Given the description of an element on the screen output the (x, y) to click on. 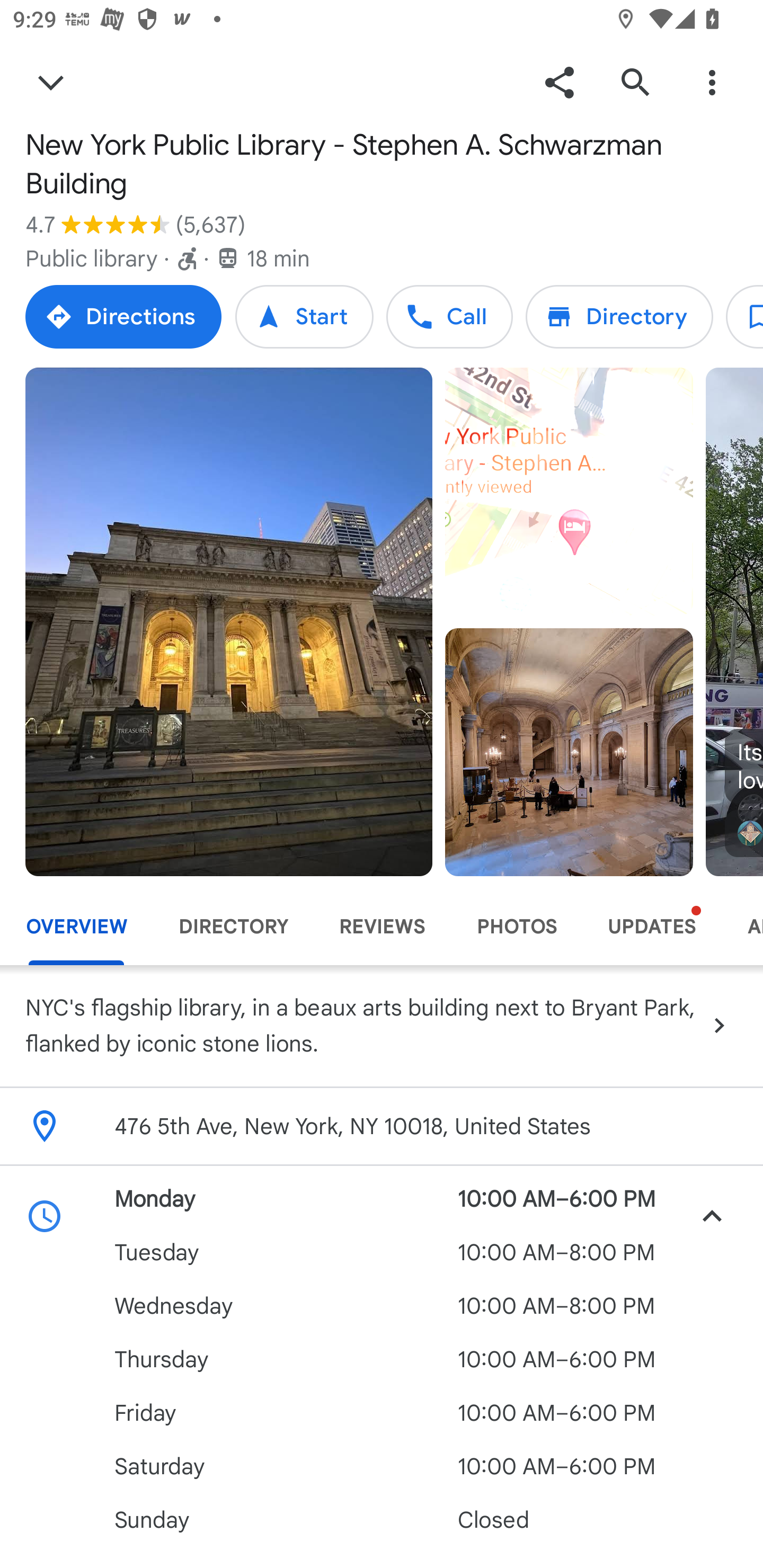
Back to Search (50, 81)
Share (559, 81)
Search (635, 81)
Start Start Start (304, 316)
Directory Directory Directory (619, 316)
Photo (228, 621)
Video (568, 491)
Photo (568, 752)
DIRECTORY Directory (232, 927)
REVIEWS Reviews (381, 927)
PHOTOS Photos (516, 927)
UPDATES Updates New updates in Updates (651, 927)
